Given the description of an element on the screen output the (x, y) to click on. 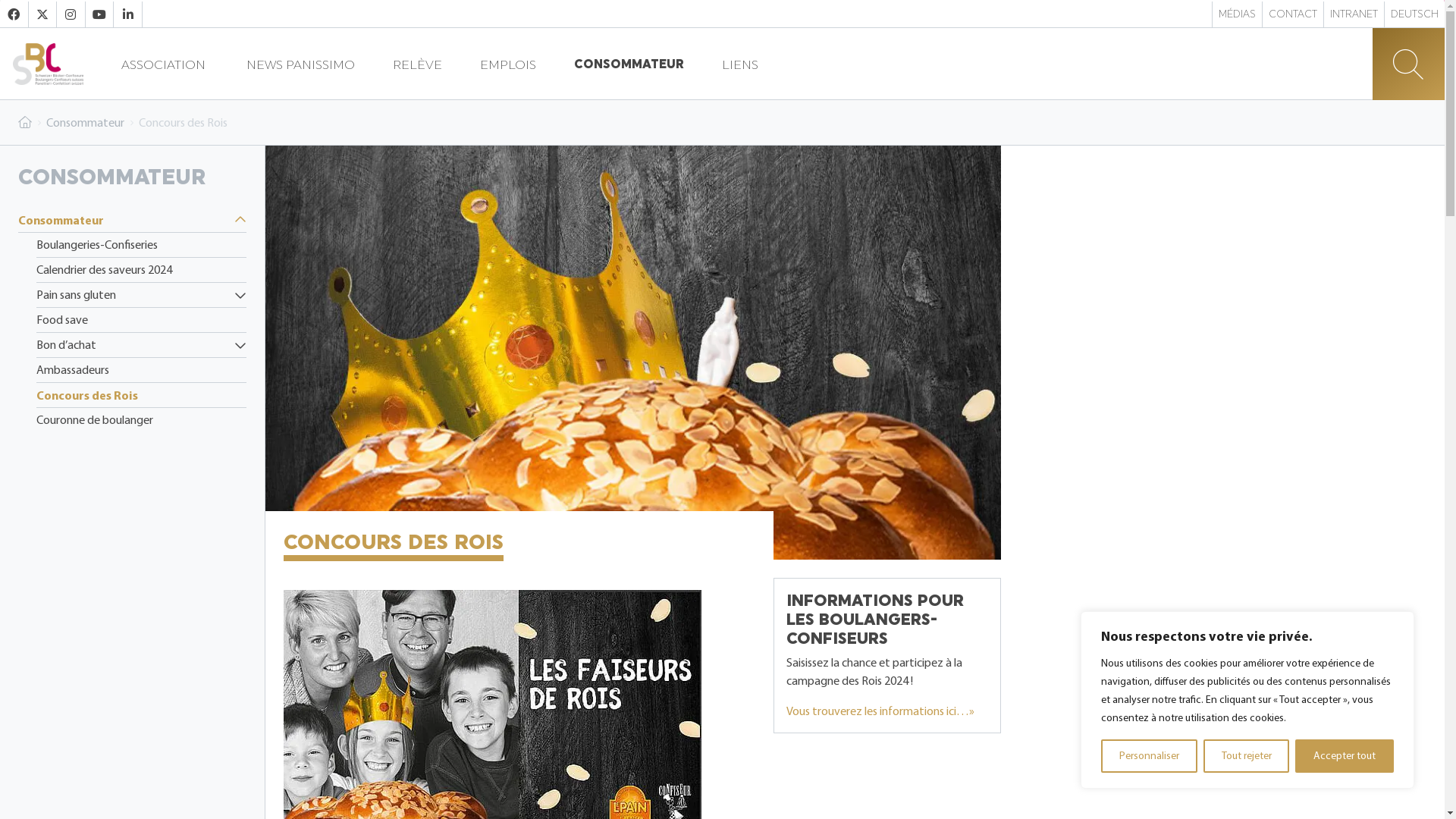
EMPLOIS Element type: text (508, 63)
Boulangeries-Confiseries Element type: text (141, 244)
Concours des Rois Element type: text (141, 394)
YouTube Element type: hover (99, 14)
INTRANET Element type: text (1353, 13)
X Element type: hover (42, 14)
LinkedIn Element type: hover (127, 14)
Food save Element type: text (141, 319)
CONTACT Element type: text (1292, 13)
ASSOCIATION  Element type: text (164, 63)
Ambassadeurs Element type: text (141, 369)
Consommateur Element type: text (132, 219)
Calendrier des saveurs 2024 Element type: text (141, 269)
Pain sans gluten Element type: text (141, 294)
Facebook Element type: hover (13, 14)
CONSOMMATEUR Element type: text (629, 63)
Consommateur Element type: text (85, 122)
Tout rejeter Element type: text (1246, 755)
Personnaliser Element type: text (1149, 755)
BOULANGERS-CONFISEURS SUISSES Element type: text (47, 63)
NEWS PANISSIMO Element type: text (300, 63)
Couronne de boulanger Element type: text (141, 420)
DEUTSCH Element type: text (1414, 13)
LIENS Element type: text (739, 63)
Accepter tout Element type: text (1344, 755)
Instagram Element type: hover (70, 14)
